Given the description of an element on the screen output the (x, y) to click on. 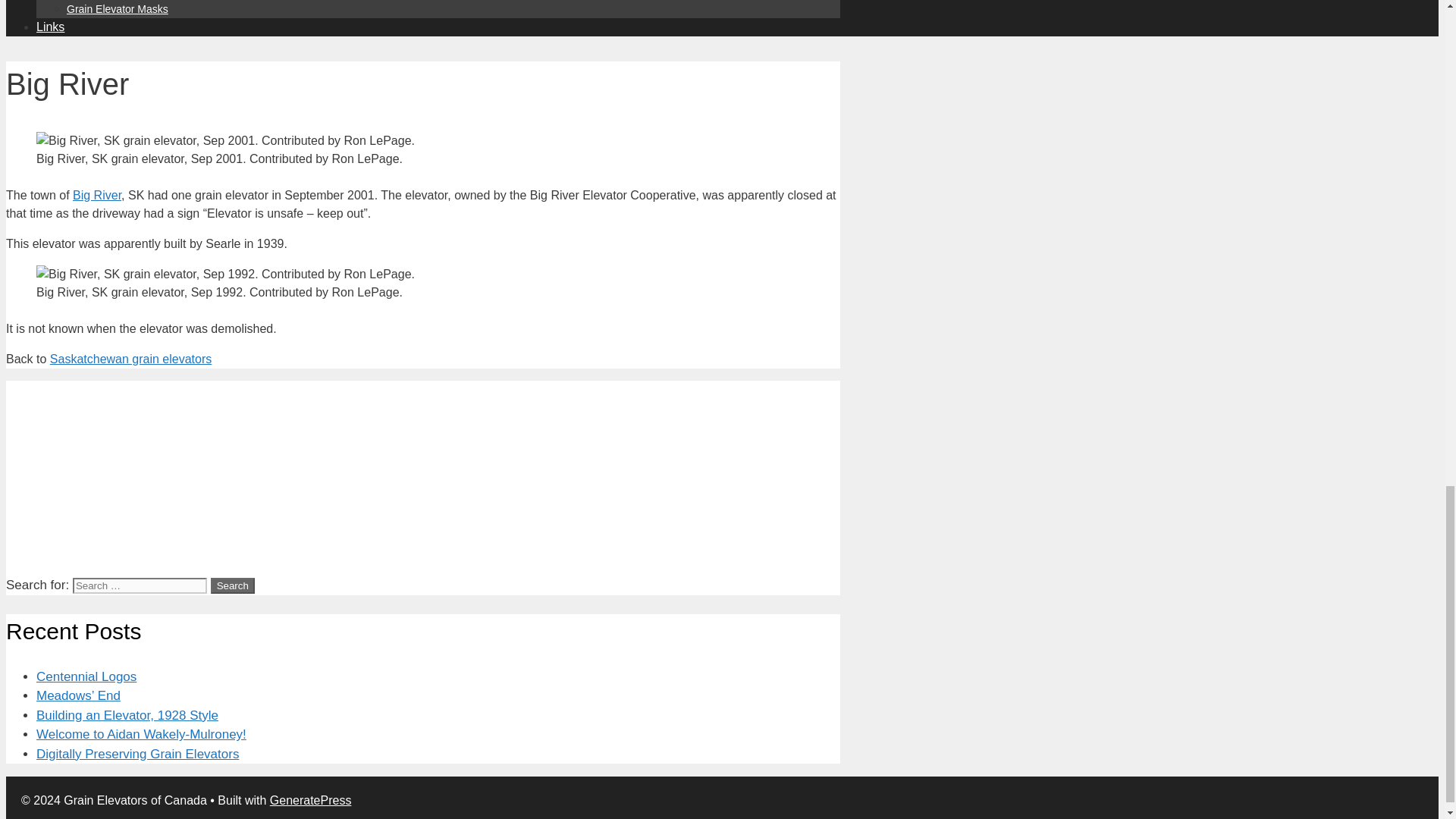
Search (232, 585)
Search for: (139, 585)
Search (232, 585)
